Given the description of an element on the screen output the (x, y) to click on. 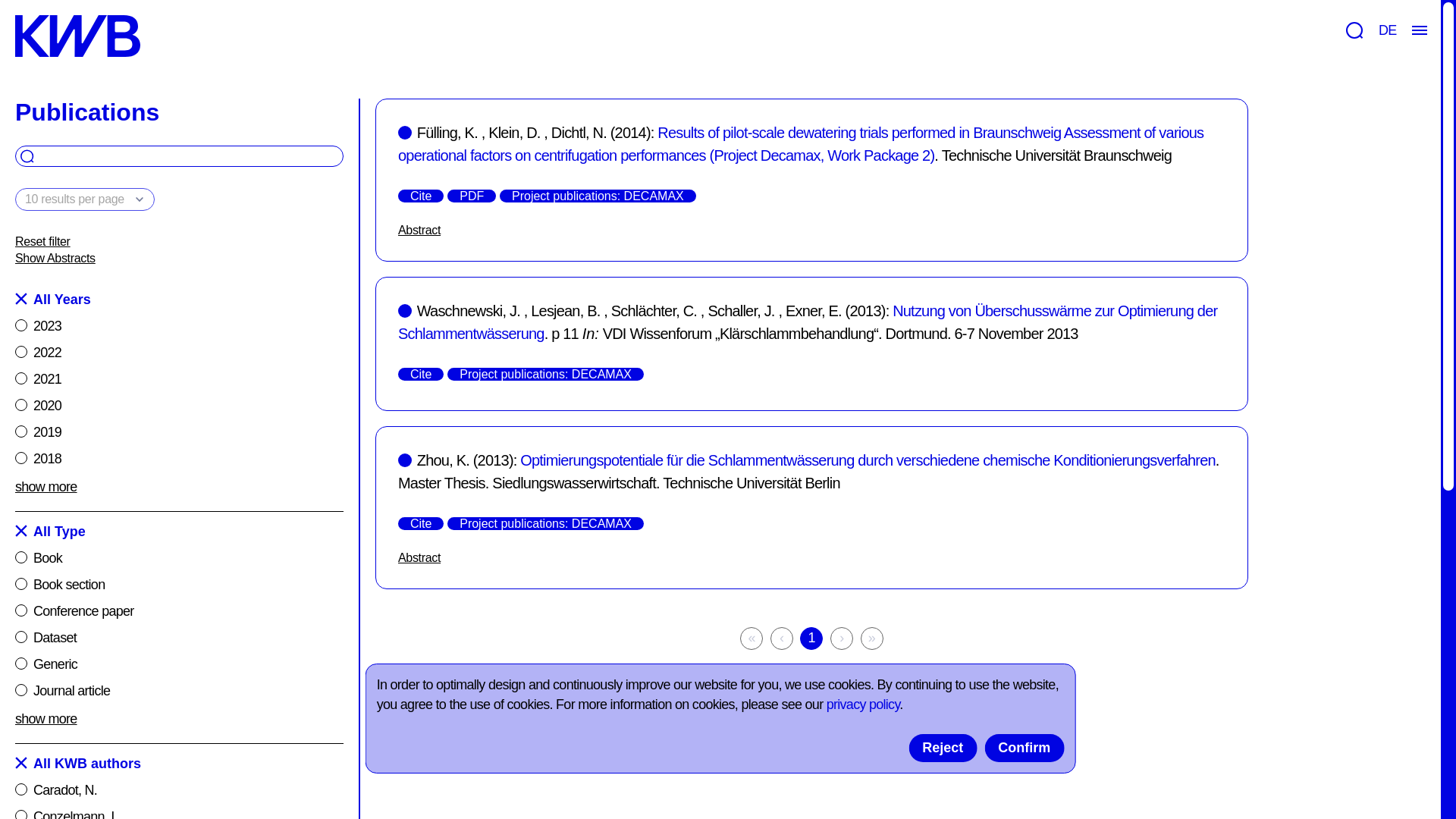
2023 (178, 325)
Show Abstracts (178, 258)
DE (1387, 29)
2020 (178, 405)
2021 (178, 379)
2022 (178, 352)
2019 (178, 432)
Reset filter (178, 241)
All Years (178, 299)
2018 (178, 458)
